Given the description of an element on the screen output the (x, y) to click on. 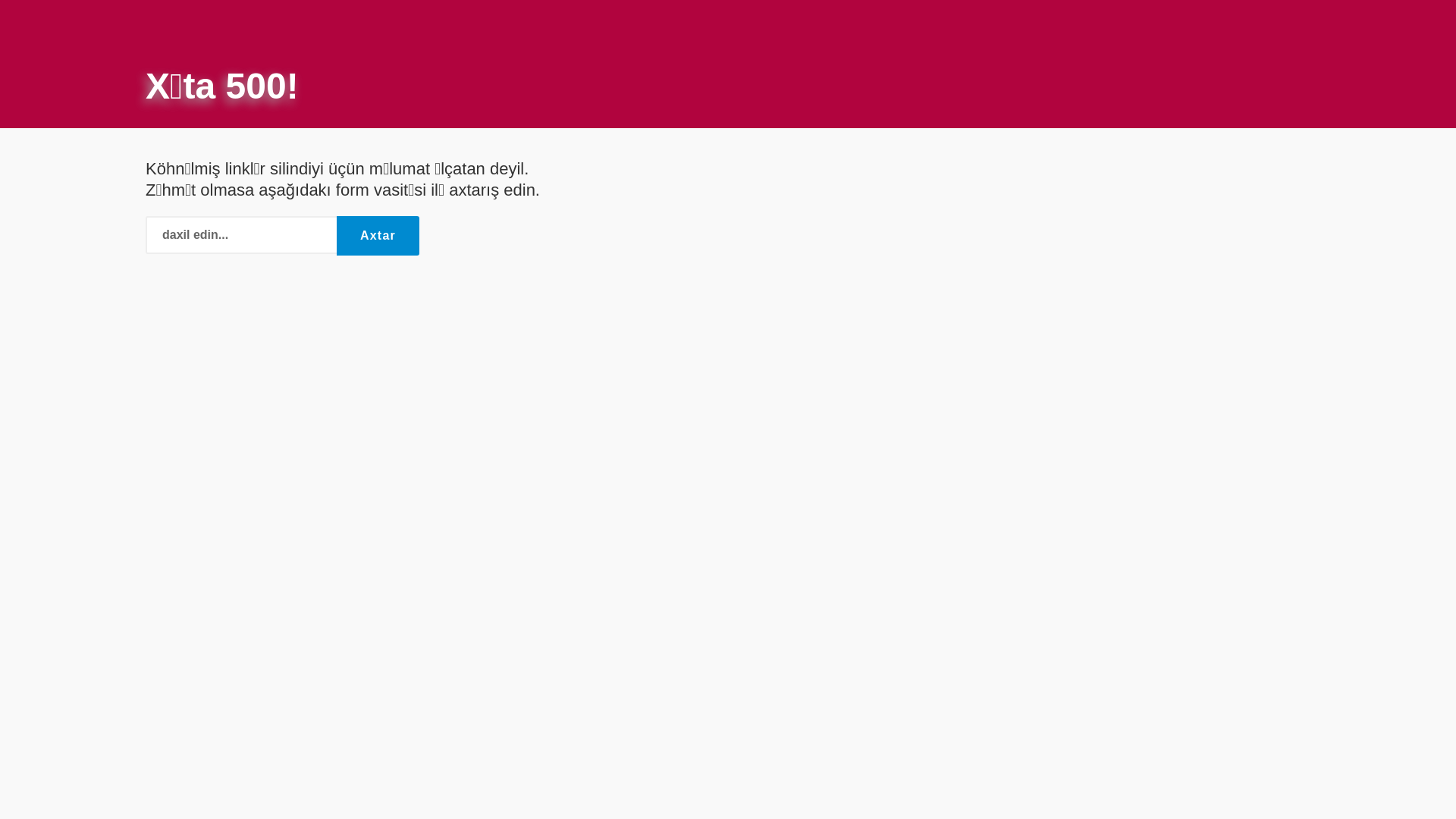
Axtar Element type: text (377, 235)
